Given the description of an element on the screen output the (x, y) to click on. 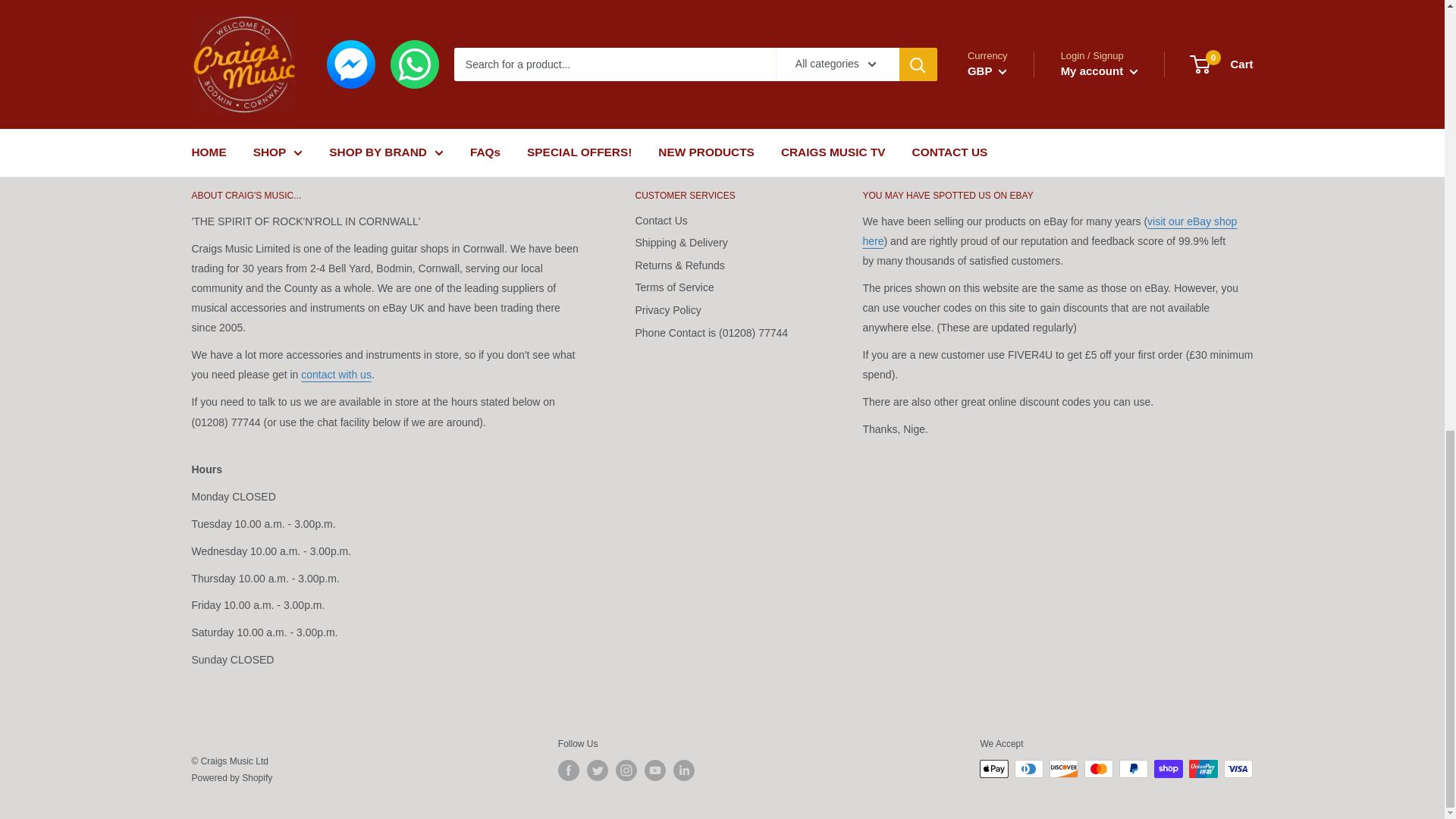
Contact Us (336, 374)
Returns Policy (600, 43)
